Given the description of an element on the screen output the (x, y) to click on. 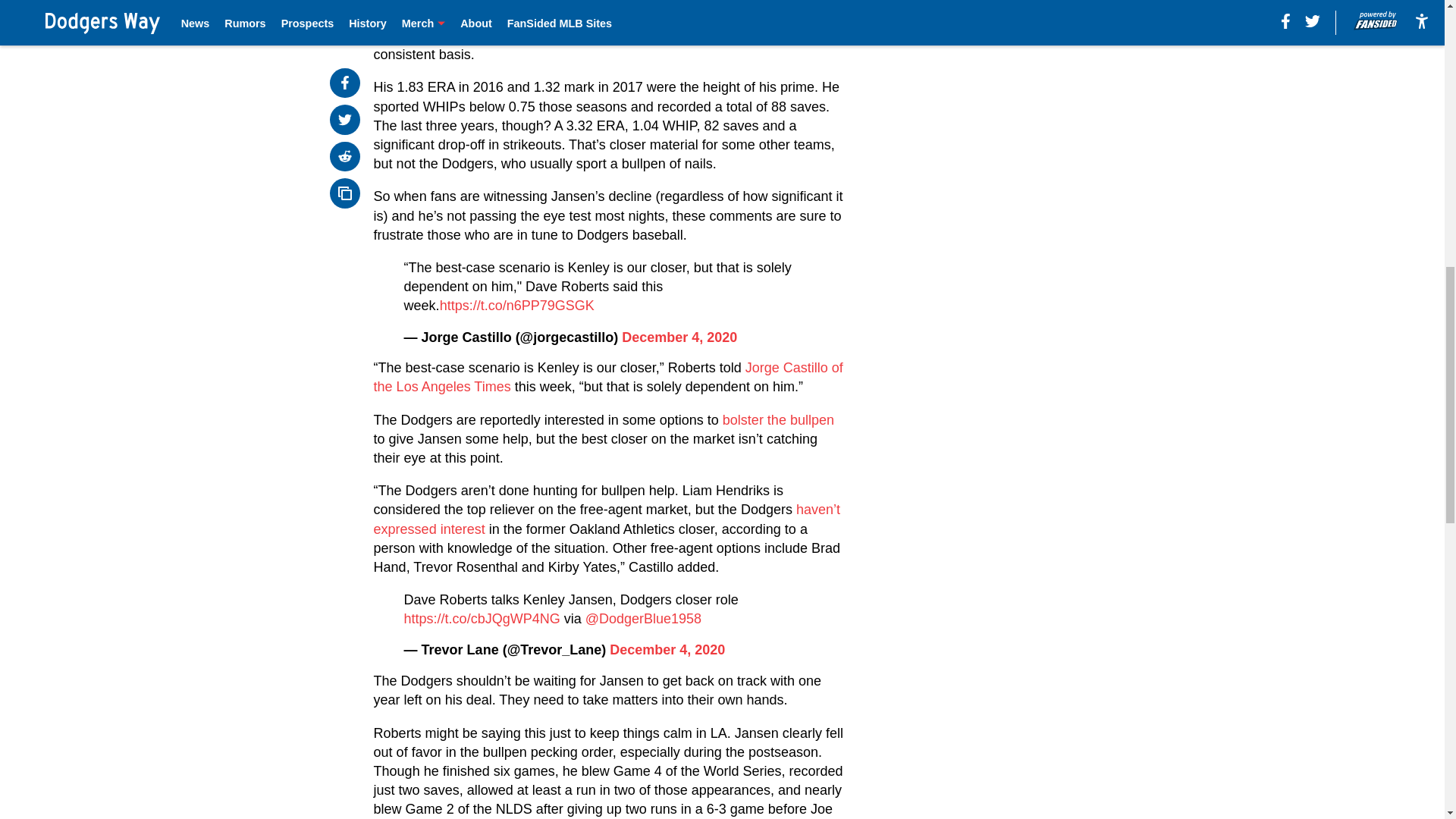
December 4, 2020 (667, 649)
bolster the bullpen (776, 419)
December 4, 2020 (678, 336)
Jorge Castillo of the Los Angeles Times (608, 376)
Kenley Jansen (418, 2)
